Given the description of an element on the screen output the (x, y) to click on. 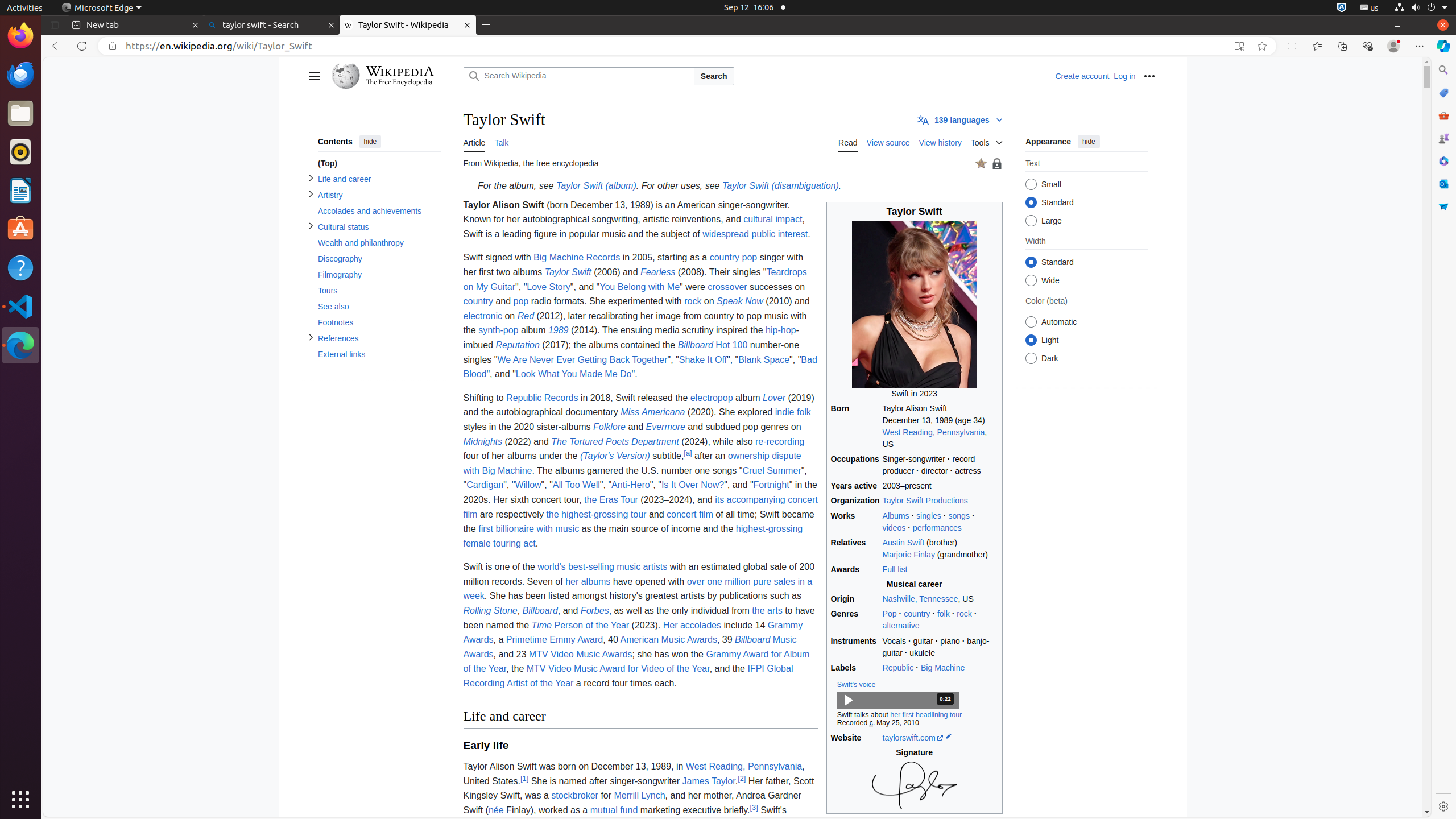
Billboard Element type: link (539, 610)
her first headlining tour Element type: link (926, 714)
Cruel Summer Element type: link (771, 470)
Thunderbird Mail Element type: push-button (20, 74)
Evermore Element type: link (665, 426)
